Given the description of an element on the screen output the (x, y) to click on. 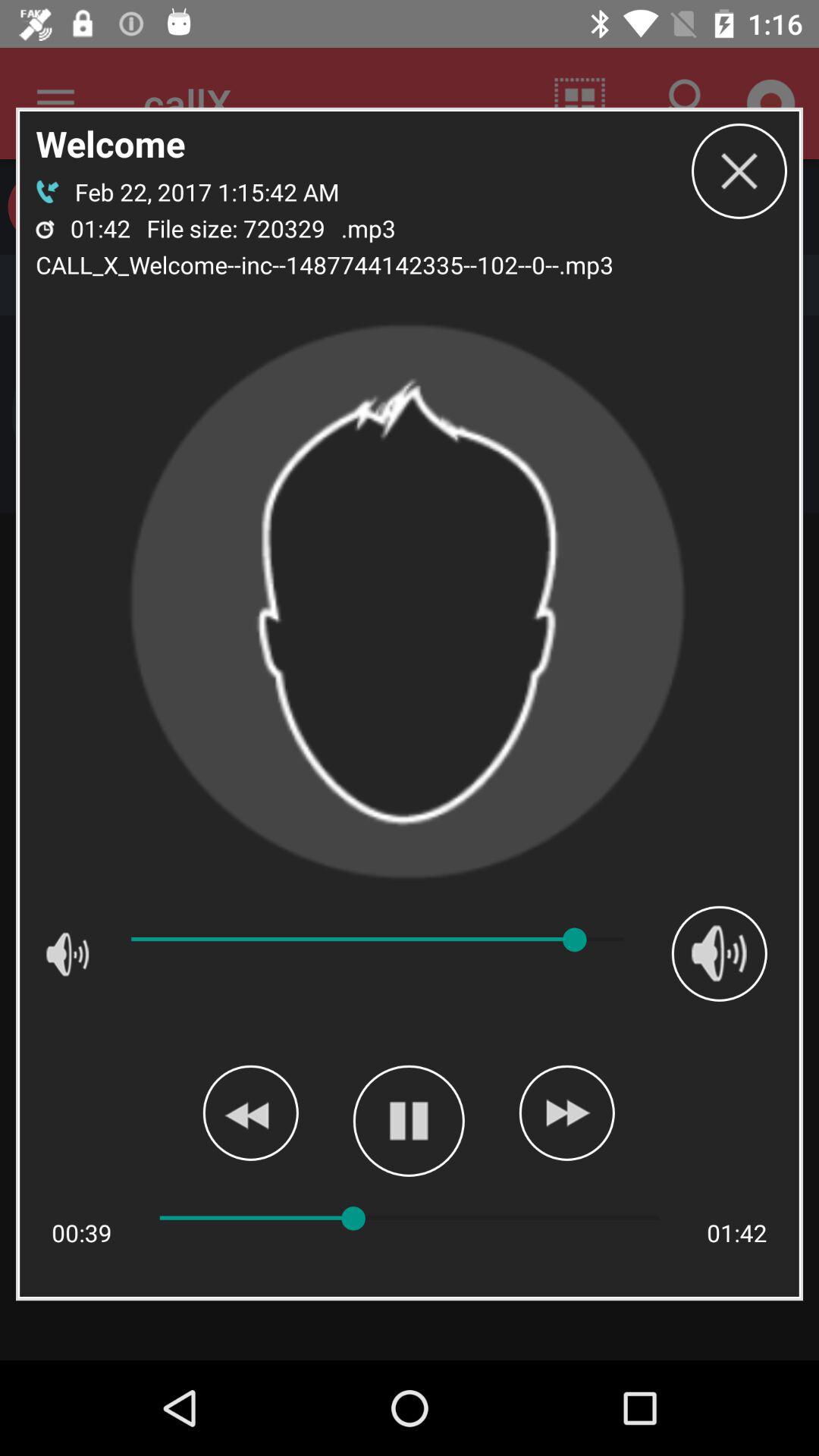
play/pause file (408, 1120)
